Given the description of an element on the screen output the (x, y) to click on. 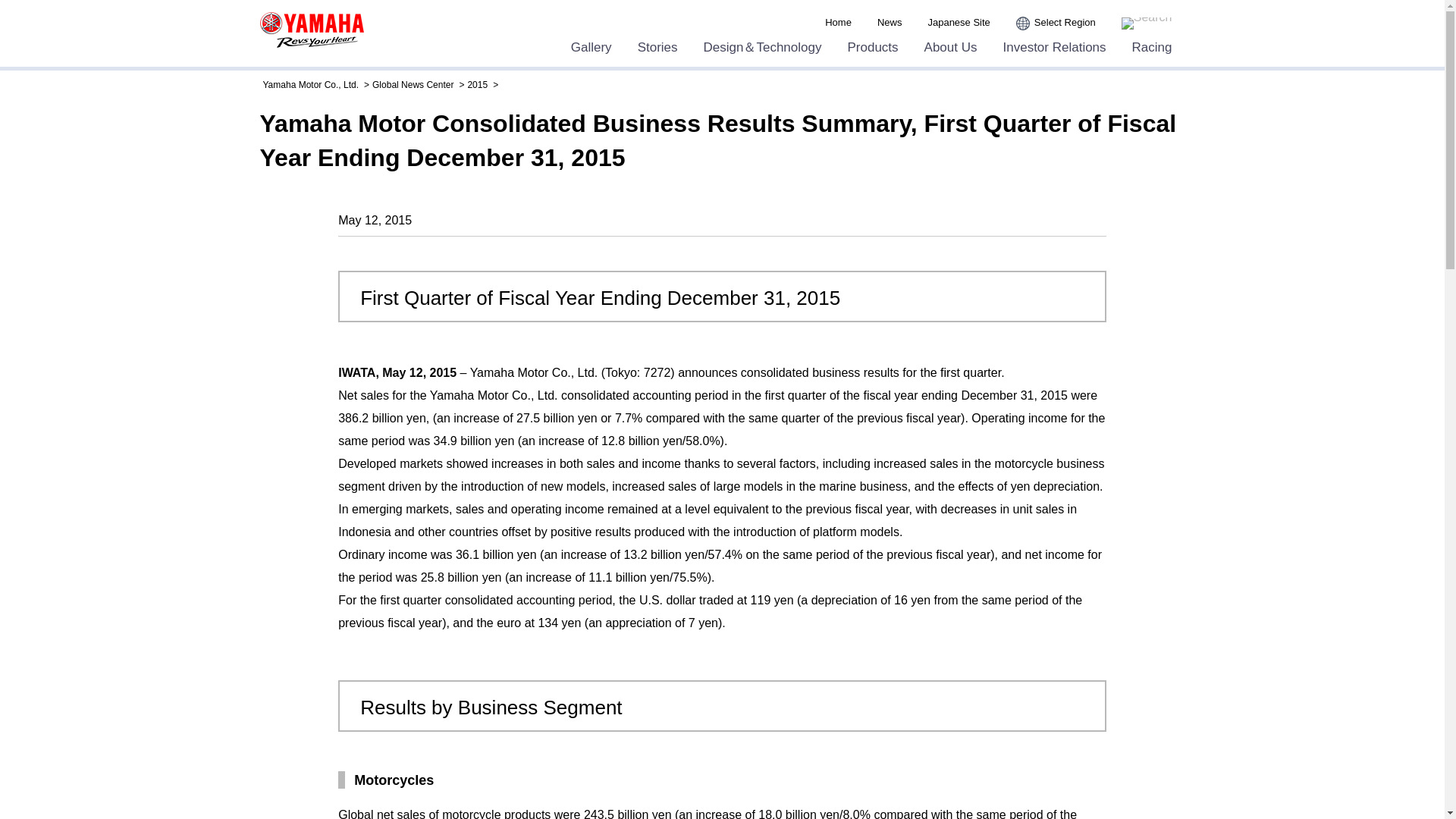
Select Region (1056, 22)
Gallery (590, 47)
Japanese Site (958, 22)
News (889, 22)
Home (838, 22)
Stories (657, 47)
Products (872, 47)
